Given the description of an element on the screen output the (x, y) to click on. 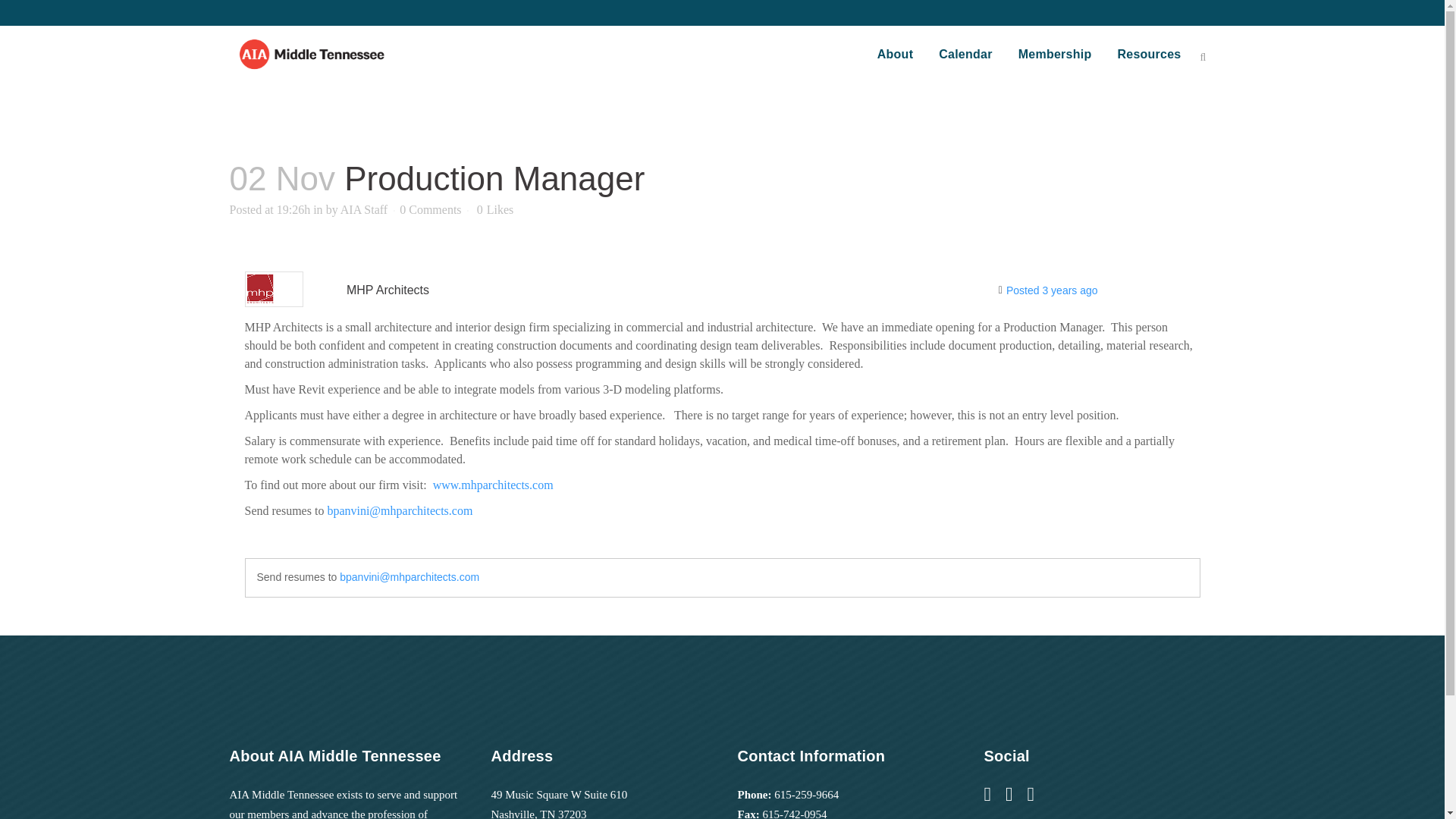
Resources (1148, 53)
About (895, 53)
Like this (495, 209)
Calendar (965, 53)
Membership (1055, 53)
